Given the description of an element on the screen output the (x, y) to click on. 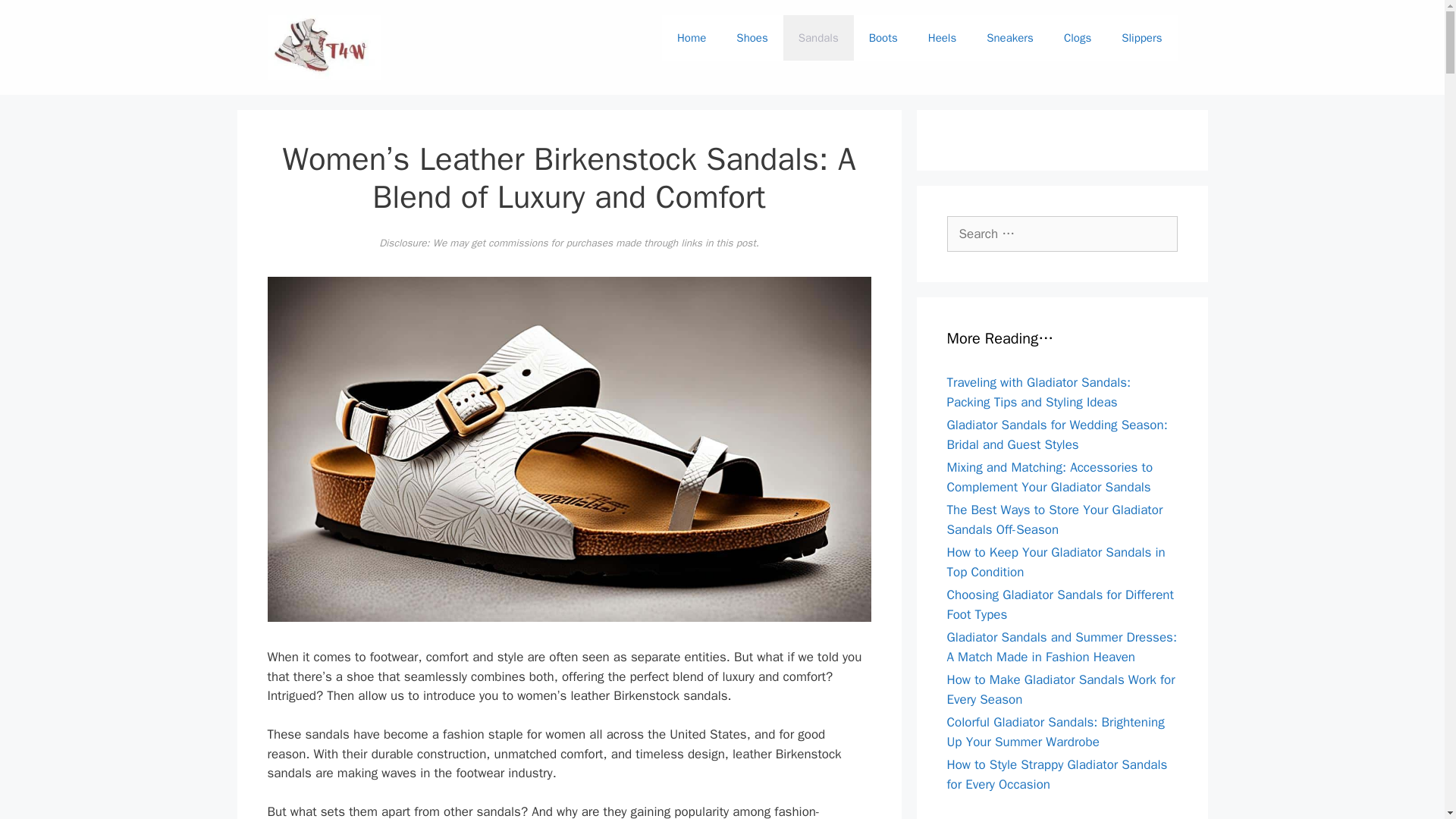
Sandals (818, 37)
Slippers (1141, 37)
Clogs (1077, 37)
Choosing Gladiator Sandals for Different Foot Types (1059, 604)
Boots (882, 37)
Heels (941, 37)
The Best Ways to Store Your Gladiator Sandals Off-Season (1053, 519)
Sneakers (1009, 37)
Shoes (751, 37)
How to Keep Your Gladiator Sandals in Top Condition (1055, 561)
How to Make Gladiator Sandals Work for Every Season (1060, 689)
How to Style Strappy Gladiator Sandals for Every Occasion (1056, 774)
Search (35, 18)
